Given the description of an element on the screen output the (x, y) to click on. 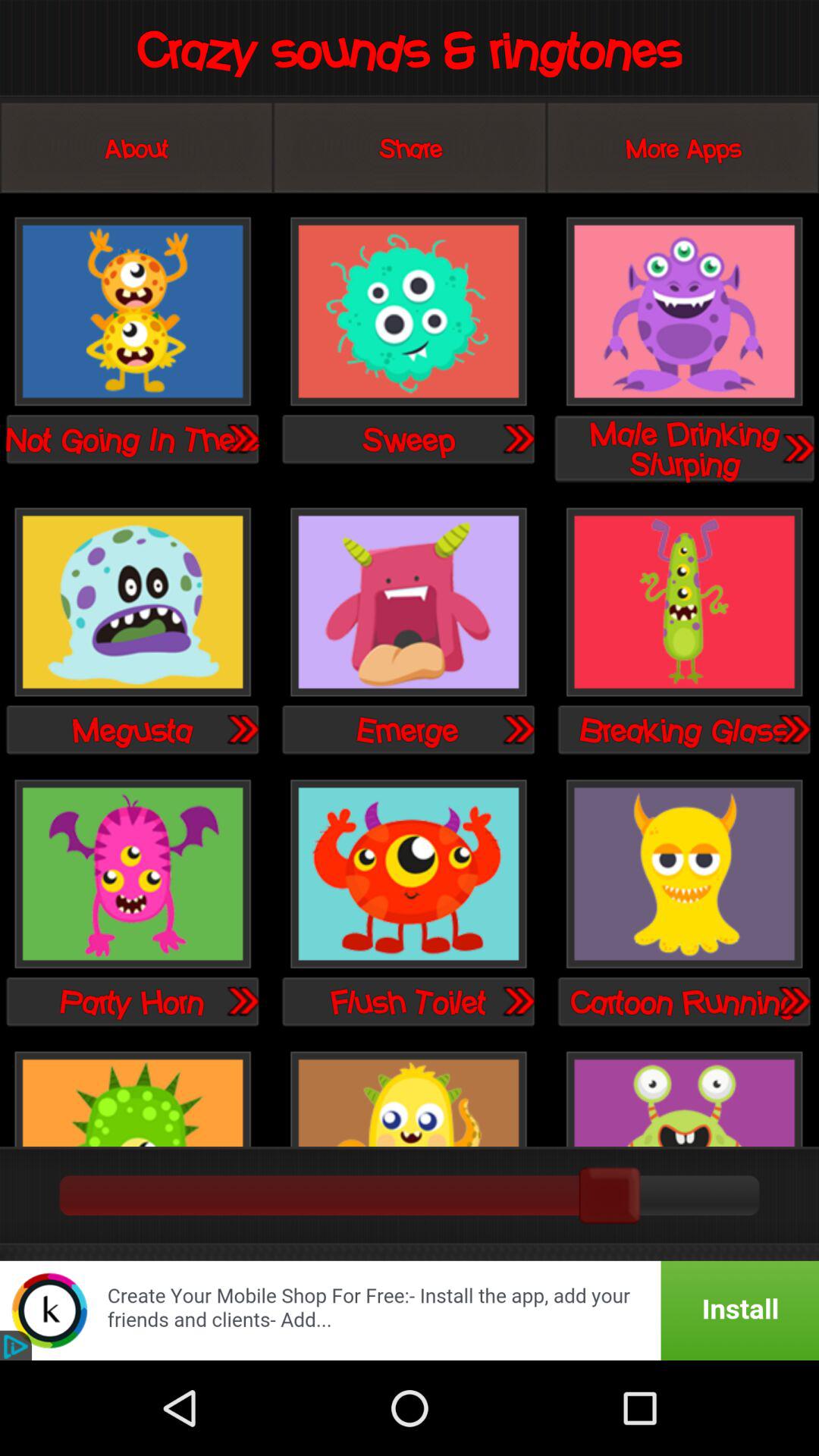
select tune (242, 1000)
